Given the description of an element on the screen output the (x, y) to click on. 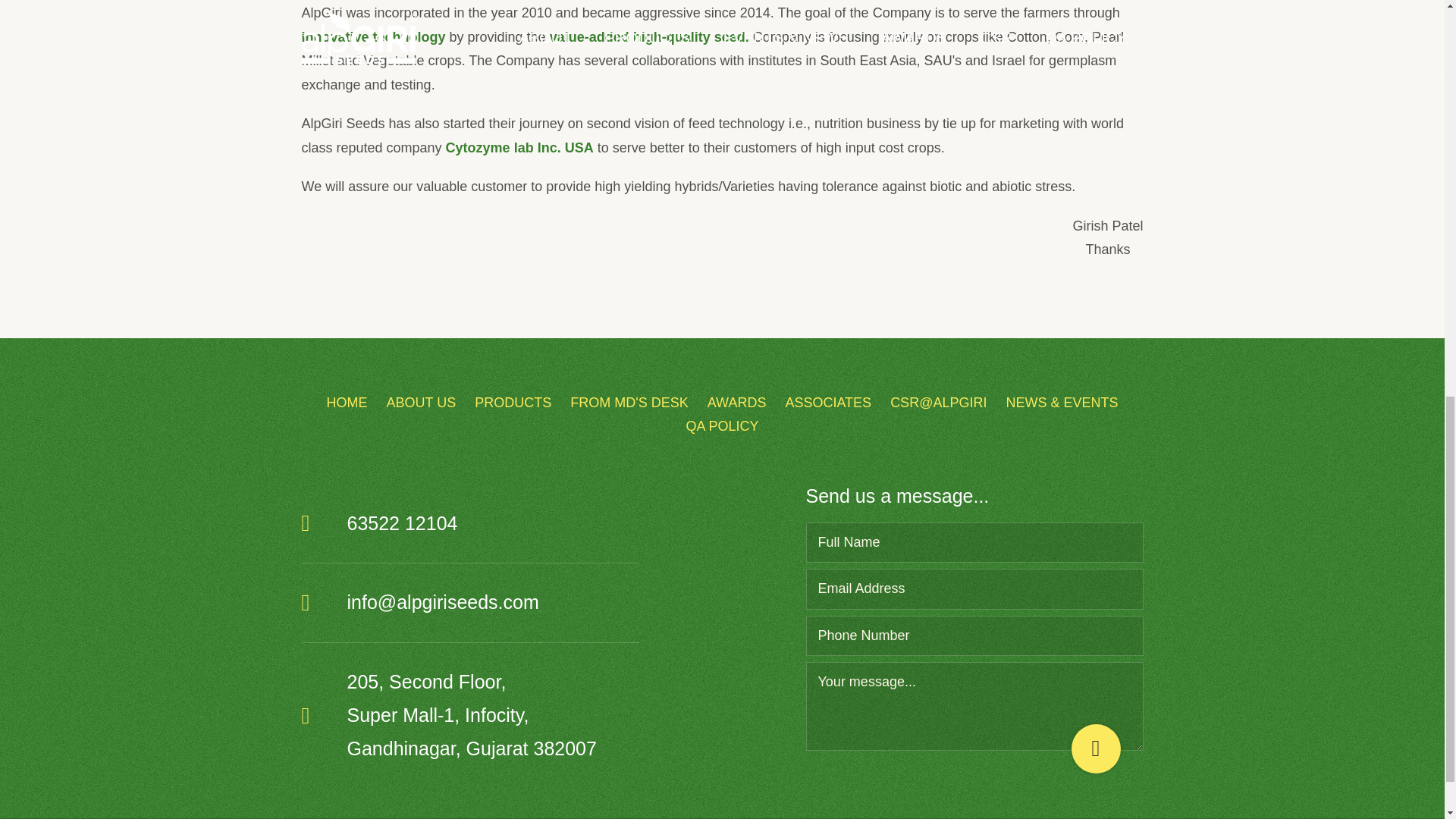
ASSOCIATES (827, 402)
PRODUCTS (513, 402)
HOME (346, 402)
AWARDS (737, 402)
ABOUT US (421, 402)
FROM MD'S DESK (628, 402)
QA POLICY (722, 426)
